Given the description of an element on the screen output the (x, y) to click on. 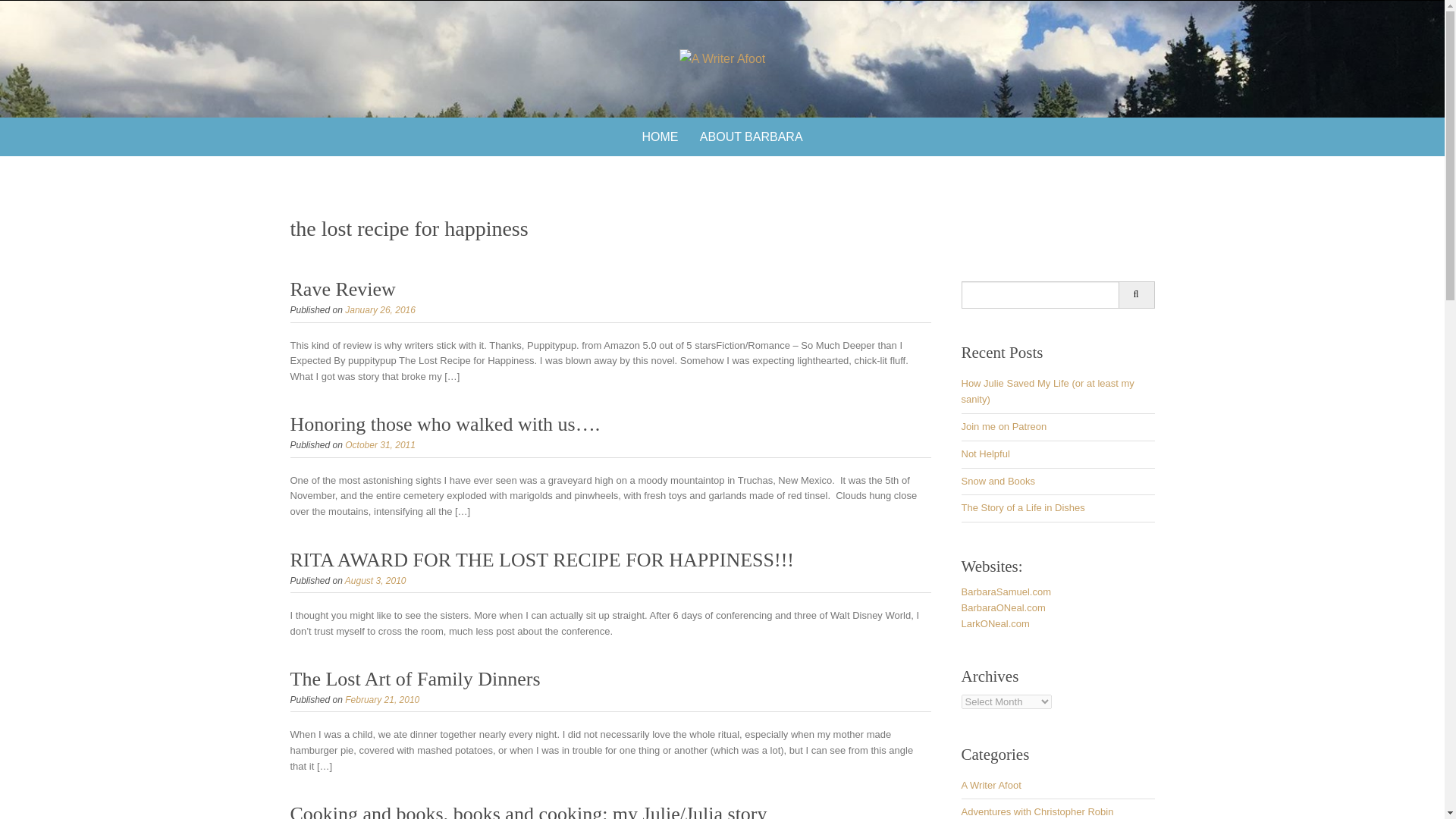
Search (1136, 294)
The Lost Art of Family Dinners (414, 679)
January 26, 2016 (379, 309)
Join me on Patreon (1003, 426)
October 31, 2011 (379, 444)
A Writer Afoot books, travel, food, writing (722, 58)
February 21, 2010 (382, 699)
ABOUT BARBARA (751, 136)
August 3, 2010 (375, 580)
HOME (659, 136)
RITA AWARD FOR THE LOST RECIPE FOR HAPPINESS!!! (541, 559)
Rave Review (341, 289)
